Given the description of an element on the screen output the (x, y) to click on. 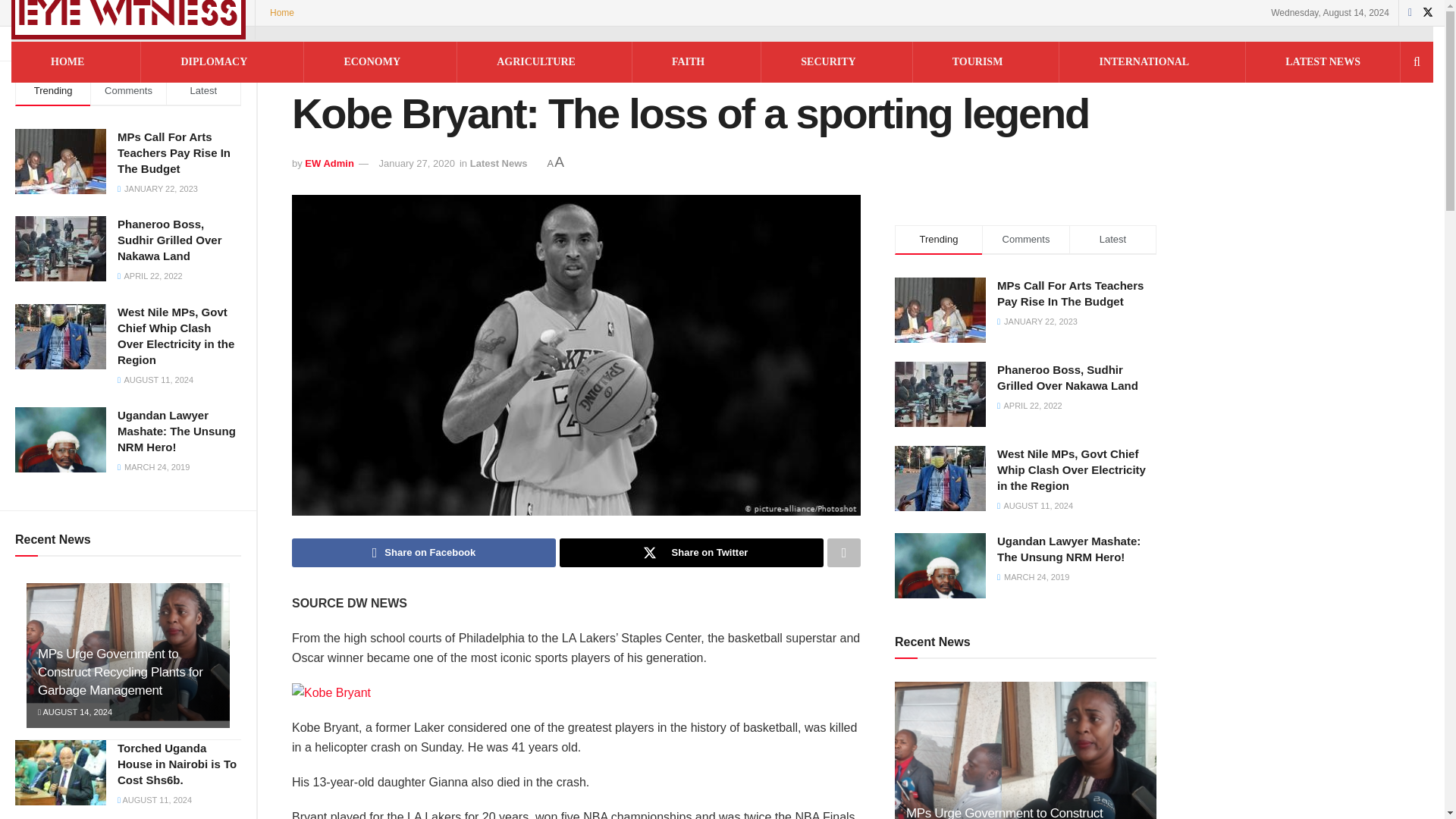
AUGUST 11, 2024 (154, 799)
Torched Uganda House in Nairobi is To Cost Shs6b. (176, 764)
MPs Call For Arts Teachers Pay Rise In The Budget (173, 152)
Phaneroo Boss, Sudhir Grilled Over Nakawa Land (169, 239)
AUGUST 14, 2024 (74, 711)
Ugandan Lawyer Mashate: The Unsung NRM Hero! (176, 430)
